Given the description of an element on the screen output the (x, y) to click on. 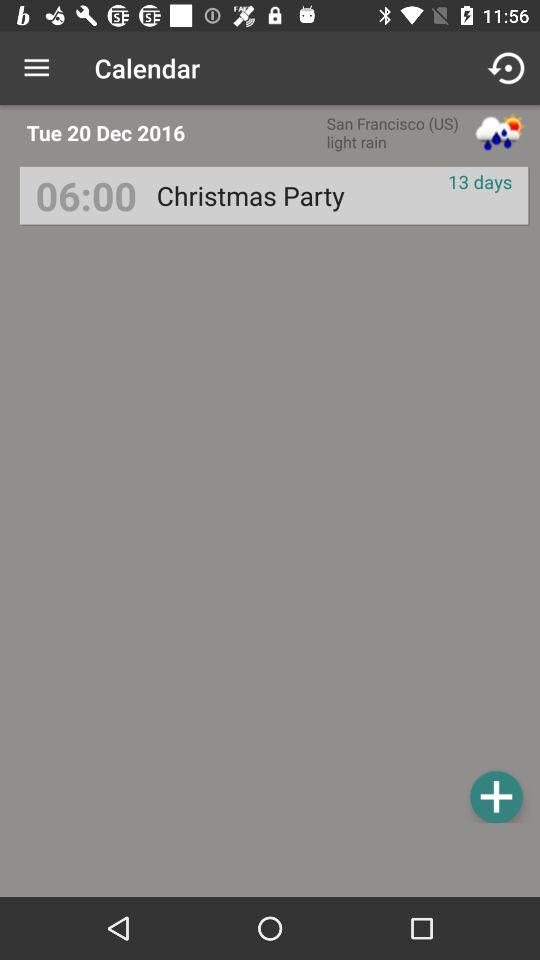
launch icon next to the calendar item (508, 67)
